Given the description of an element on the screen output the (x, y) to click on. 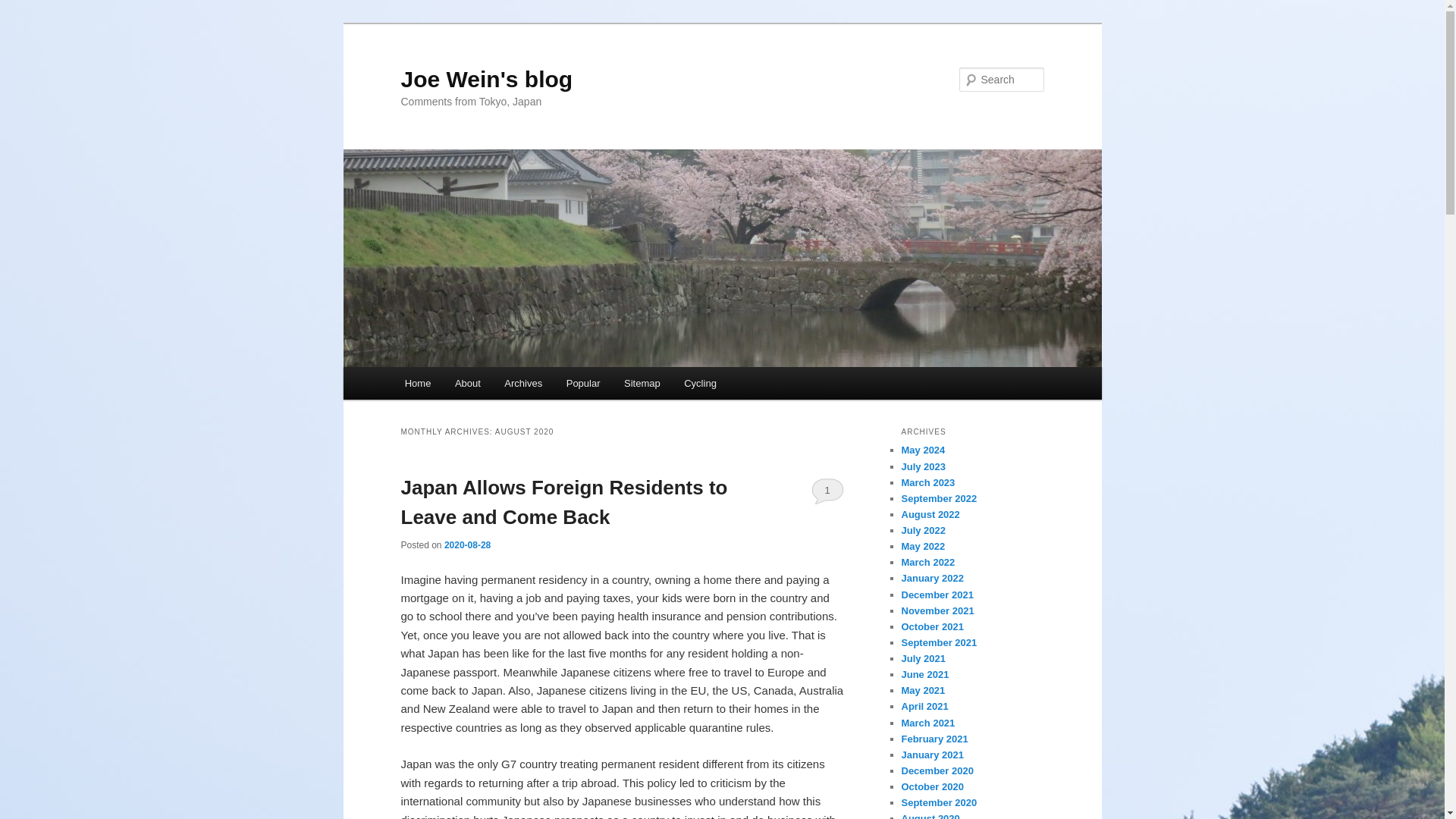
About (467, 382)
Popular (582, 382)
June 2021 (925, 674)
Japan Allows Foreign Residents to Leave and Come Back (563, 501)
September 2021 (938, 642)
March 2022 (928, 562)
Sitemap (641, 382)
20:35 (467, 544)
December 2021 (936, 594)
September 2022 (938, 498)
Archives (523, 382)
March 2021 (928, 722)
May 2022 (922, 546)
February 2021 (934, 738)
July 2022 (922, 530)
